Given the description of an element on the screen output the (x, y) to click on. 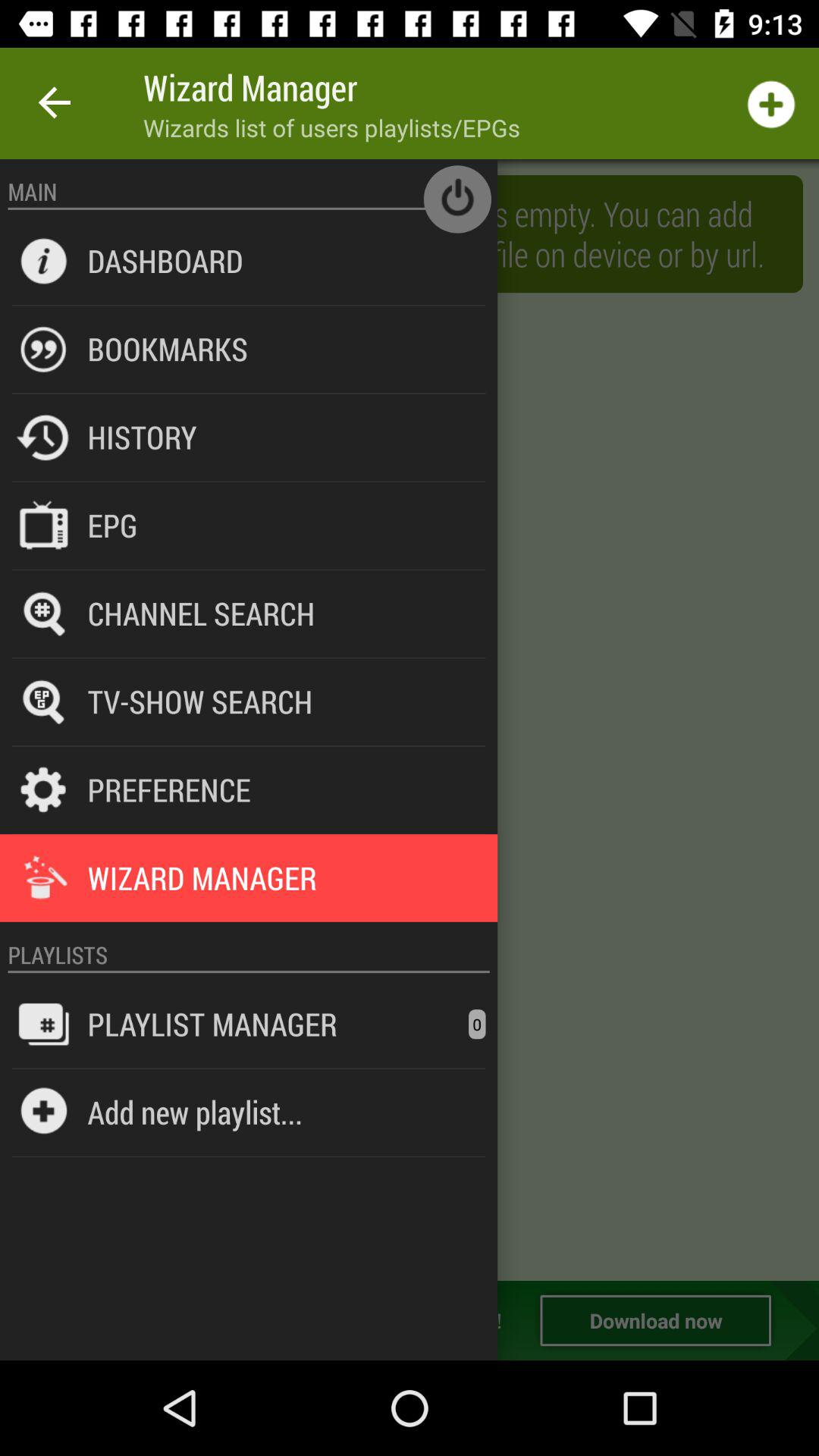
turn off the icon next to the wizard manager (55, 103)
